Given the description of an element on the screen output the (x, y) to click on. 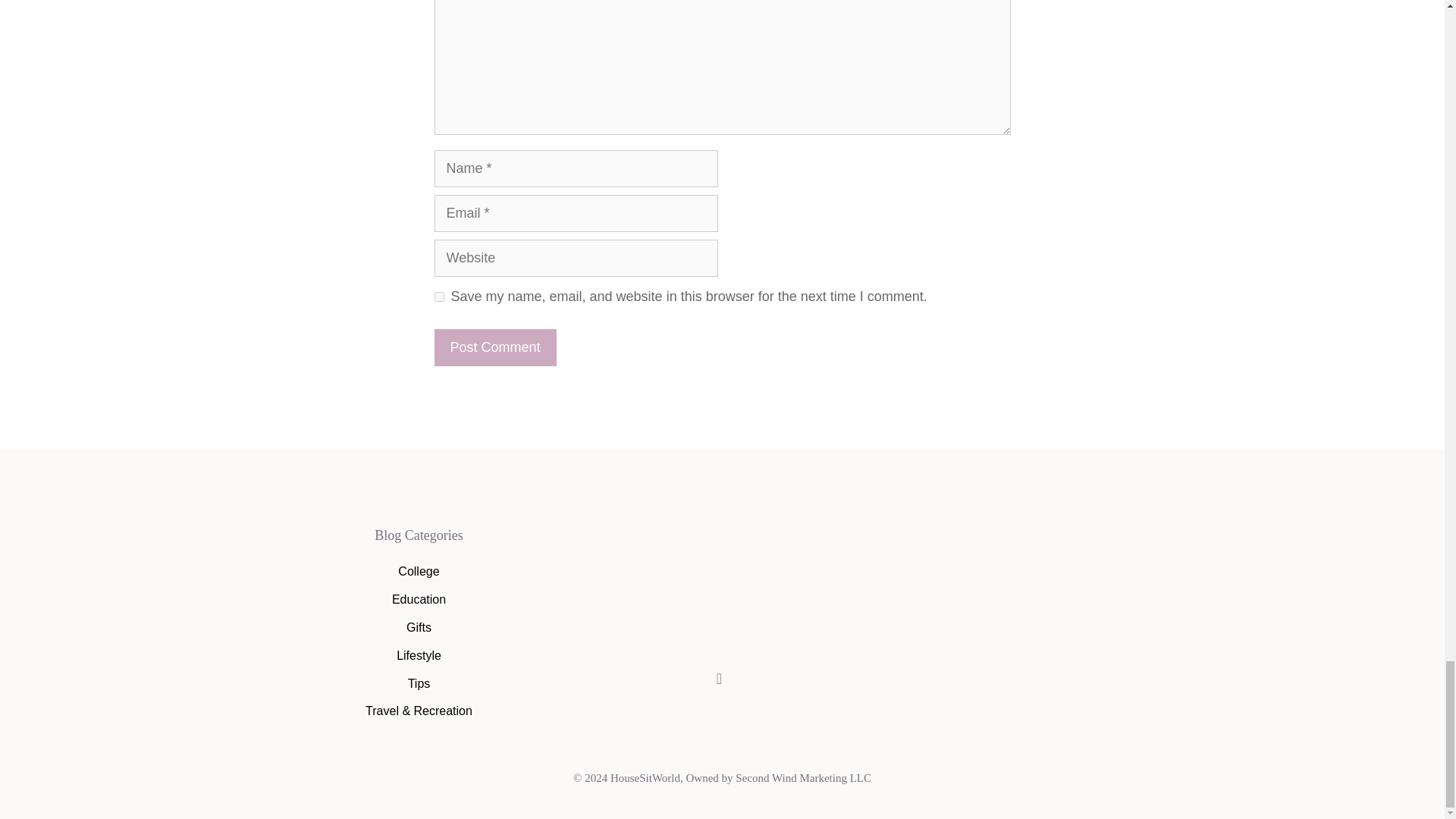
Instagram (719, 678)
yes (438, 296)
Post Comment (494, 347)
